Given the description of an element on the screen output the (x, y) to click on. 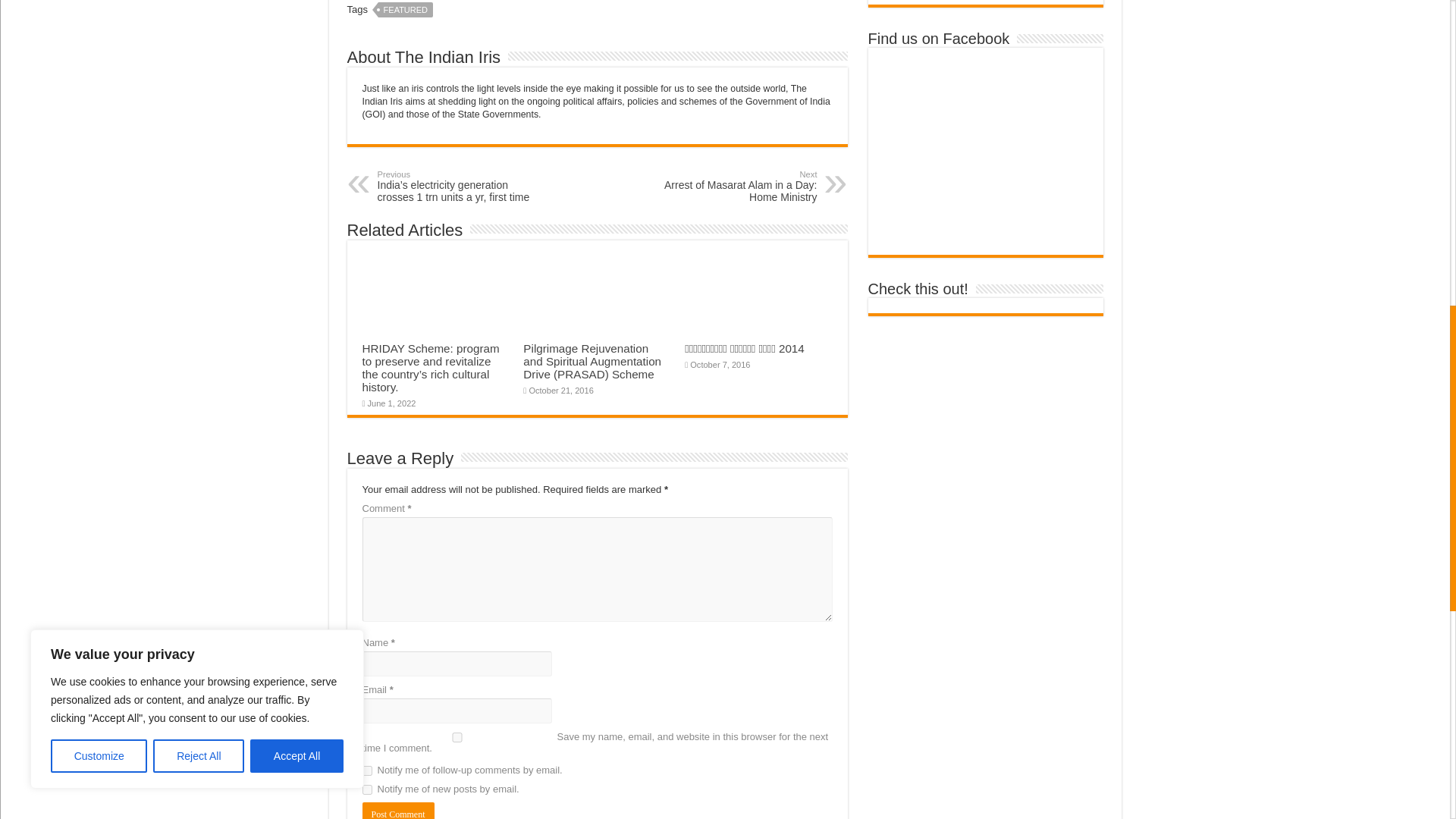
Post Comment (397, 810)
subscribe (367, 770)
subscribe (367, 789)
yes (456, 737)
